Given the description of an element on the screen output the (x, y) to click on. 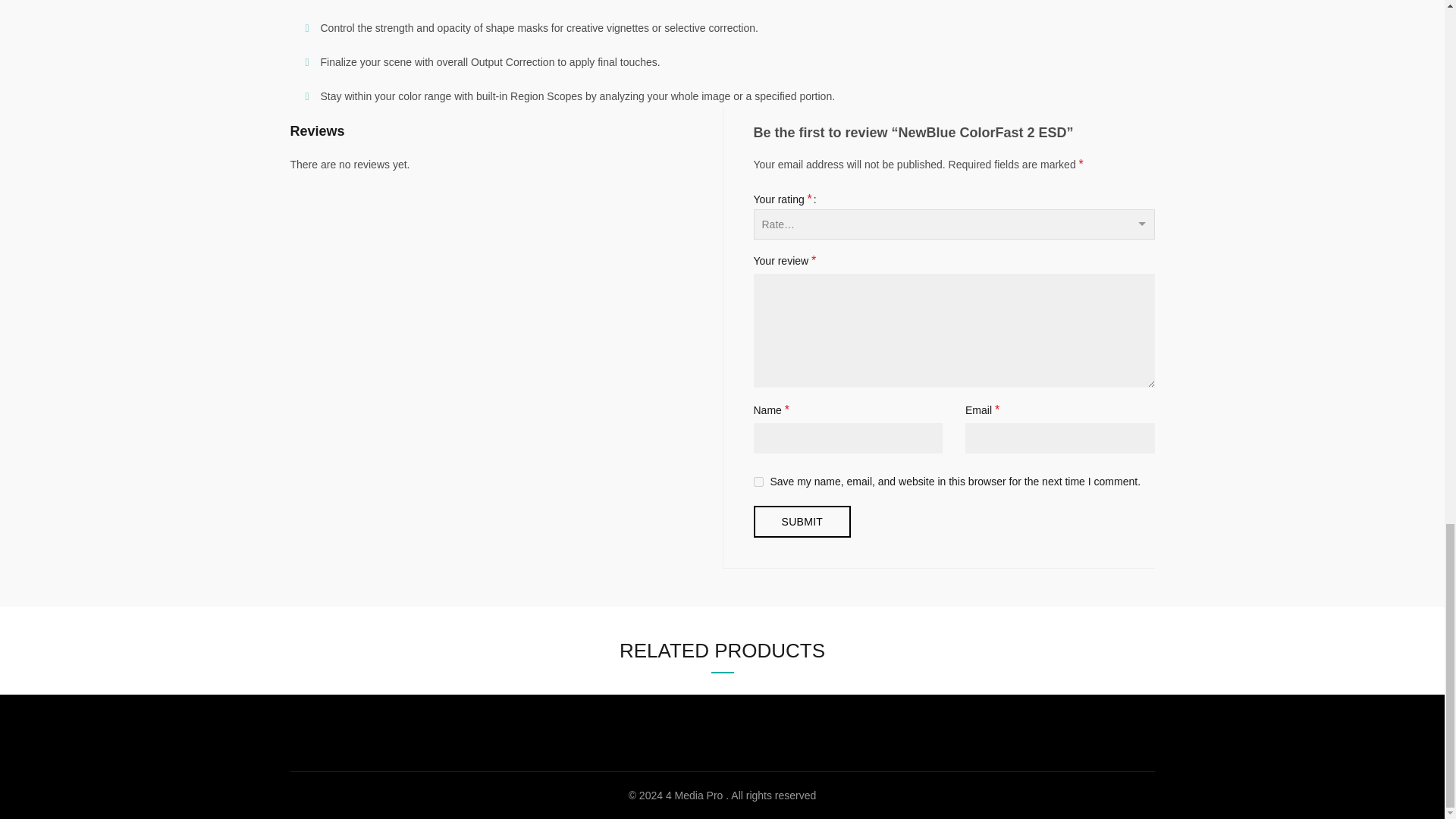
Submit (802, 521)
yes (758, 481)
